Given the description of an element on the screen output the (x, y) to click on. 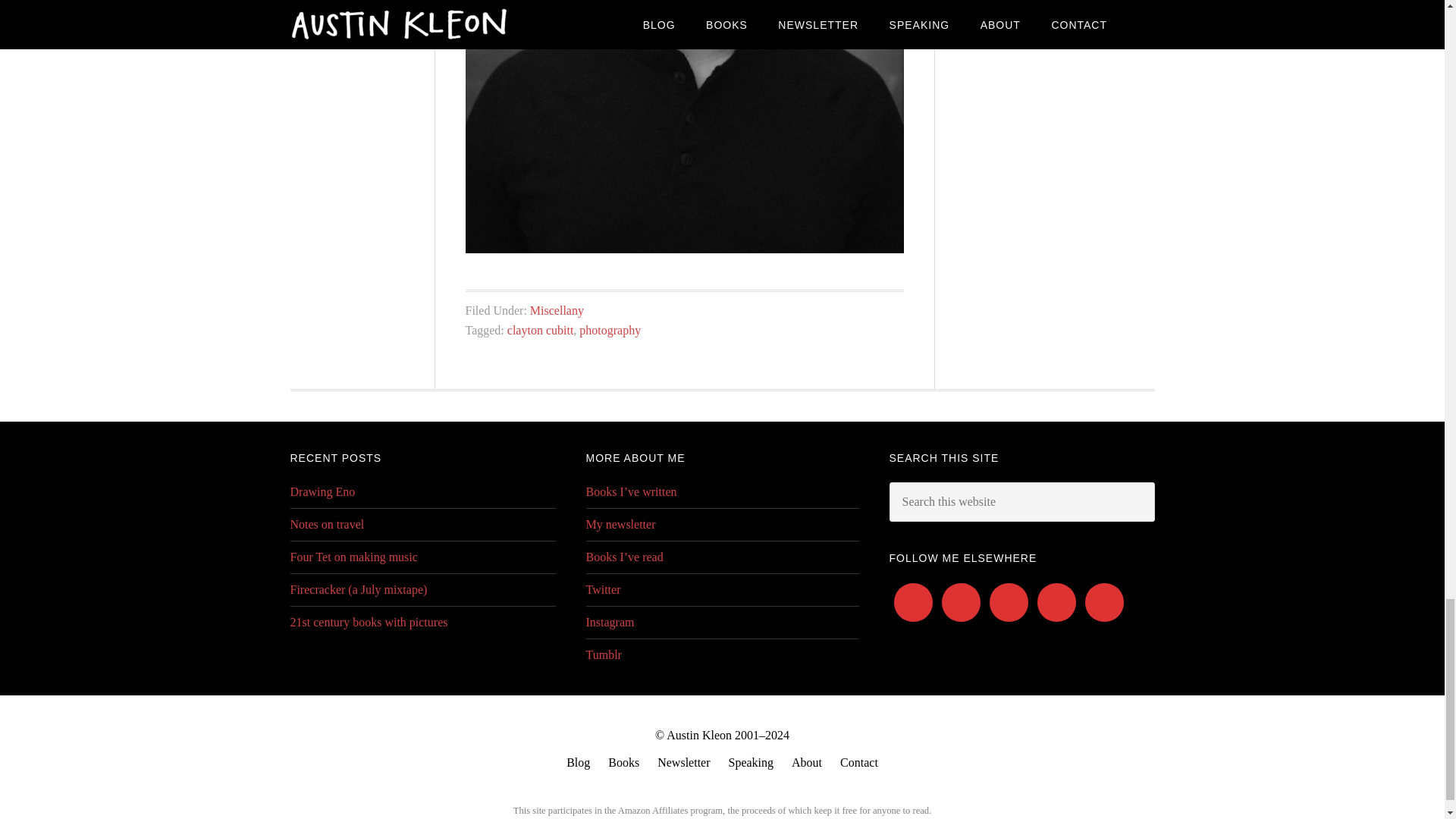
clayton cubitt (539, 329)
photography (609, 329)
Miscellany (556, 309)
Read my books (623, 762)
